Given the description of an element on the screen output the (x, y) to click on. 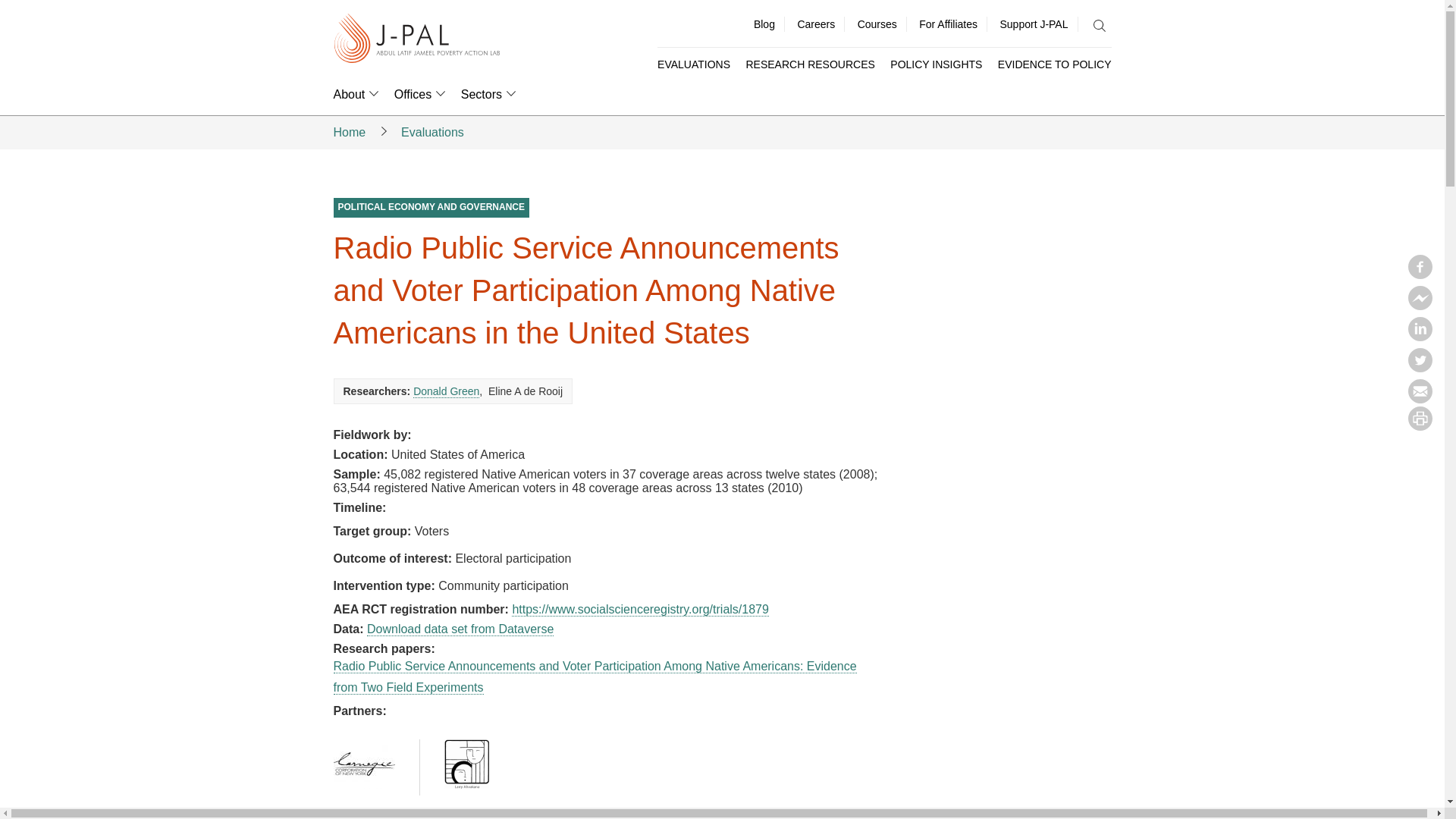
print (1419, 426)
Twitter (1419, 367)
Carnegie Corporation of New York (363, 763)
Email (1419, 399)
Linkedin (1419, 336)
J-PAL (416, 39)
Koahnic Broadcast Corporation (466, 763)
Facebook (1419, 274)
Facebook messenger (1419, 305)
